Given the description of an element on the screen output the (x, y) to click on. 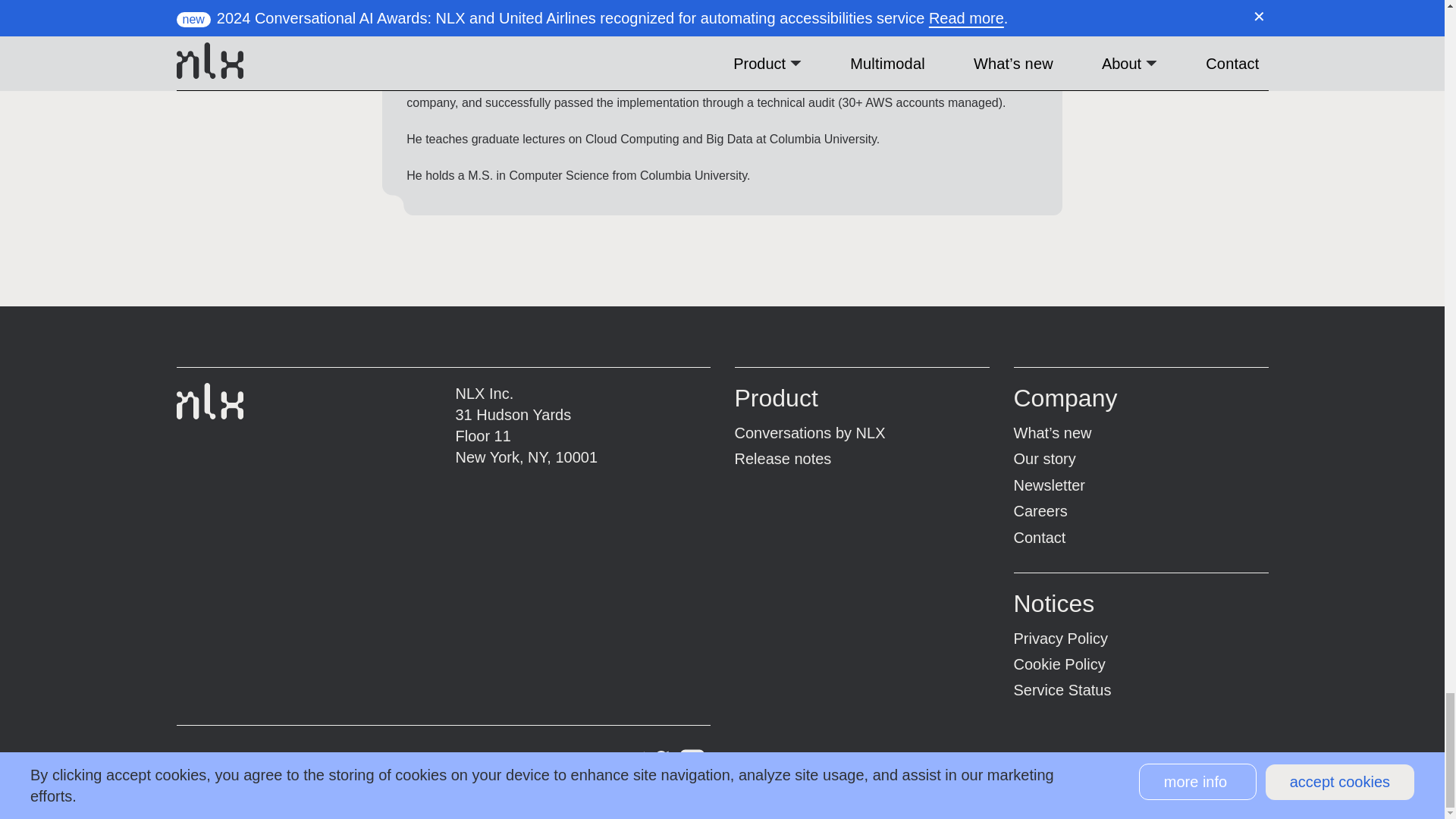
Our story (1044, 458)
Release notes (782, 458)
Contact (1039, 537)
Cookie Policy (1059, 664)
Privacy Policy (1059, 638)
Service Status (1061, 689)
Careers (1040, 510)
Newsletter (1048, 484)
Conversations by NLX (809, 433)
